Given the description of an element on the screen output the (x, y) to click on. 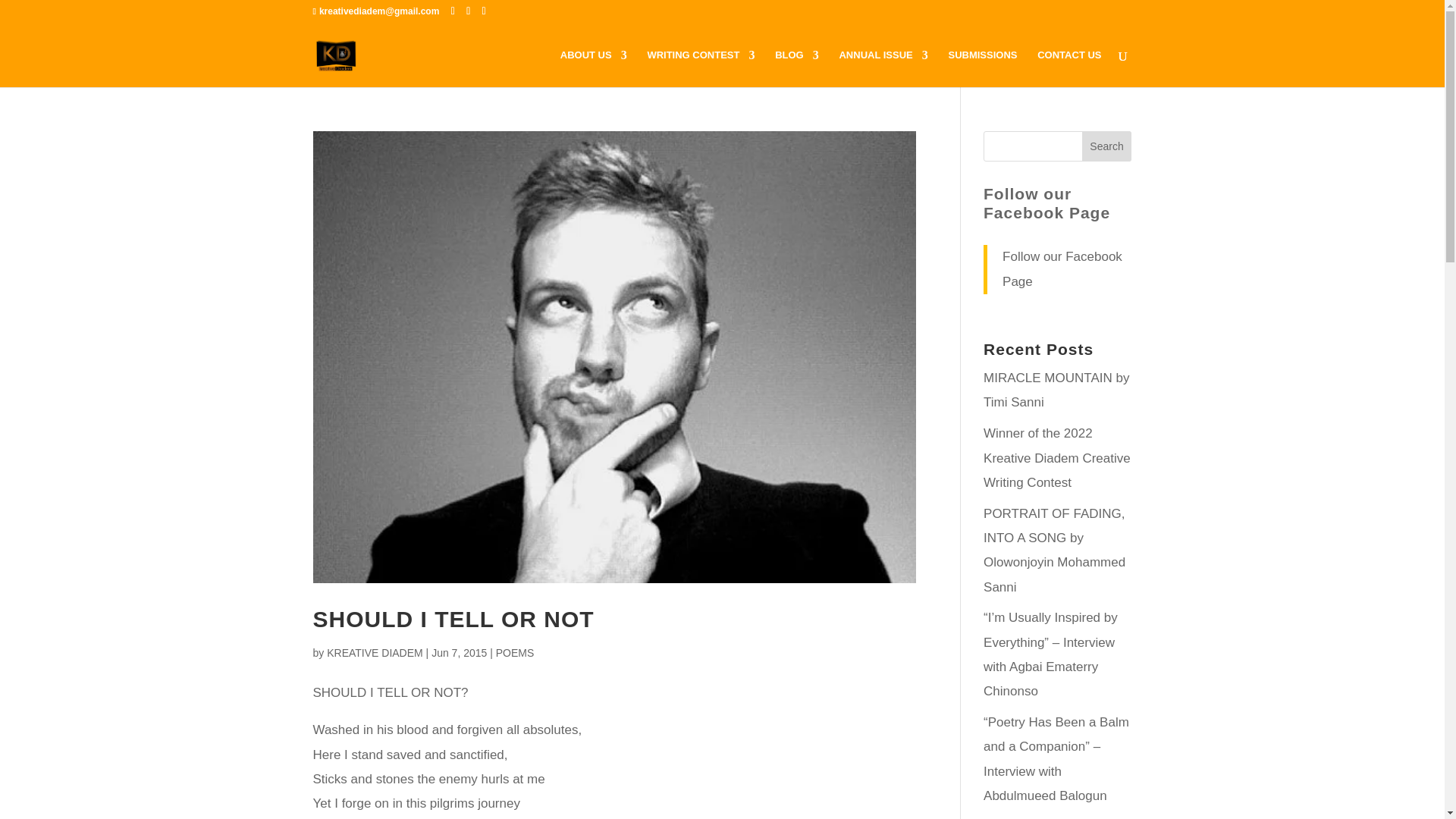
ABOUT US (593, 67)
CONTACT US (1068, 67)
Issue (882, 67)
SUBMISSIONS (981, 67)
ANNUAL ISSUE (882, 67)
WRITING CONTEST (700, 67)
BLOG (796, 67)
Posts by KREATIVE DIADEM (374, 653)
Search (1106, 146)
